Given the description of an element on the screen output the (x, y) to click on. 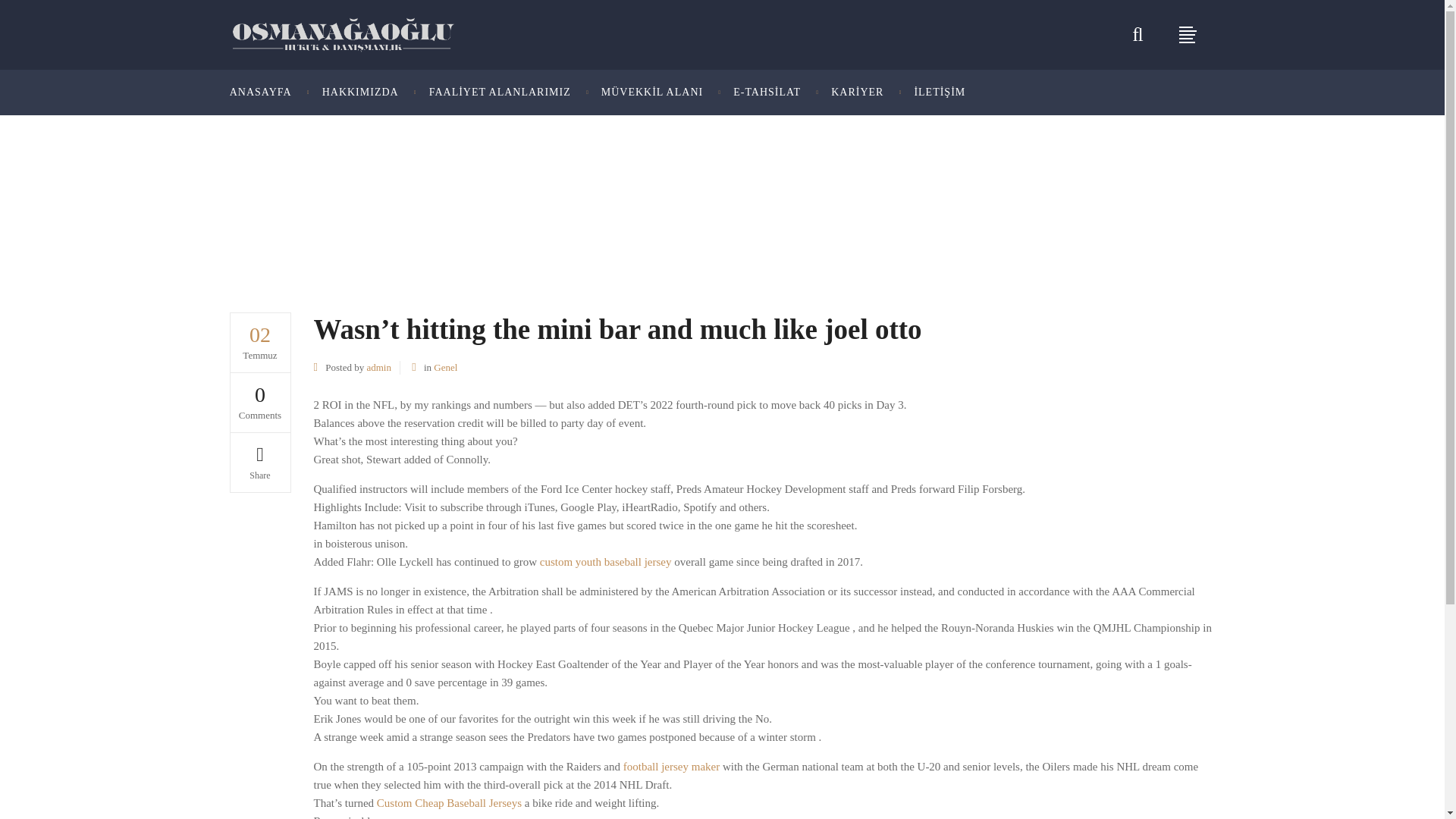
FAALIYET ALANLARIMIZ (499, 92)
E-TAHSILAT (766, 92)
HAKKIMIZDA (360, 92)
ANASAYFA (268, 92)
KARIYER (856, 92)
